Given the description of an element on the screen output the (x, y) to click on. 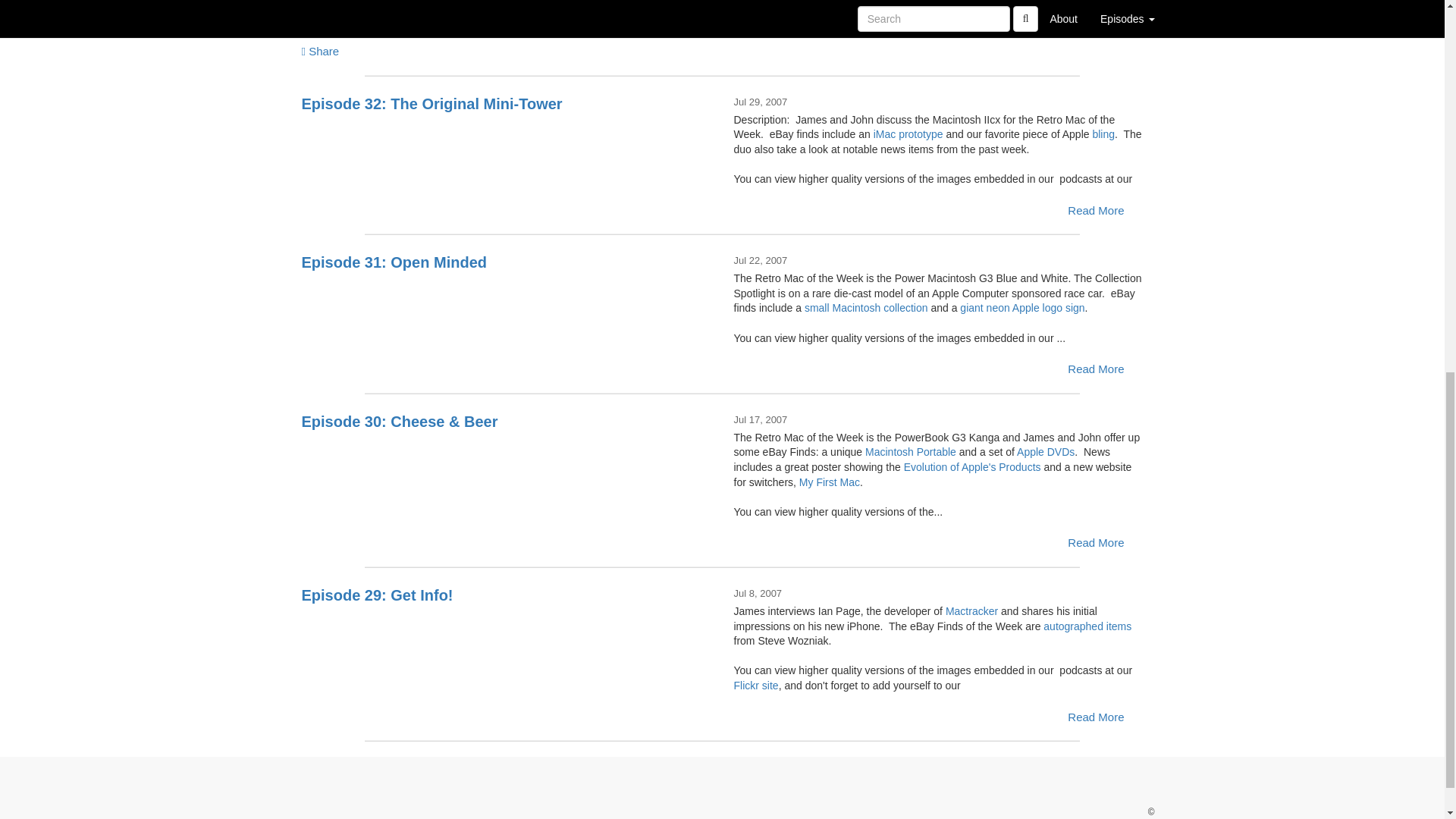
Episode 29: Get Info! (506, 641)
Episode 31: Open Minded (506, 308)
Episode 32: The Original Mini-Tower (506, 149)
